Given the description of an element on the screen output the (x, y) to click on. 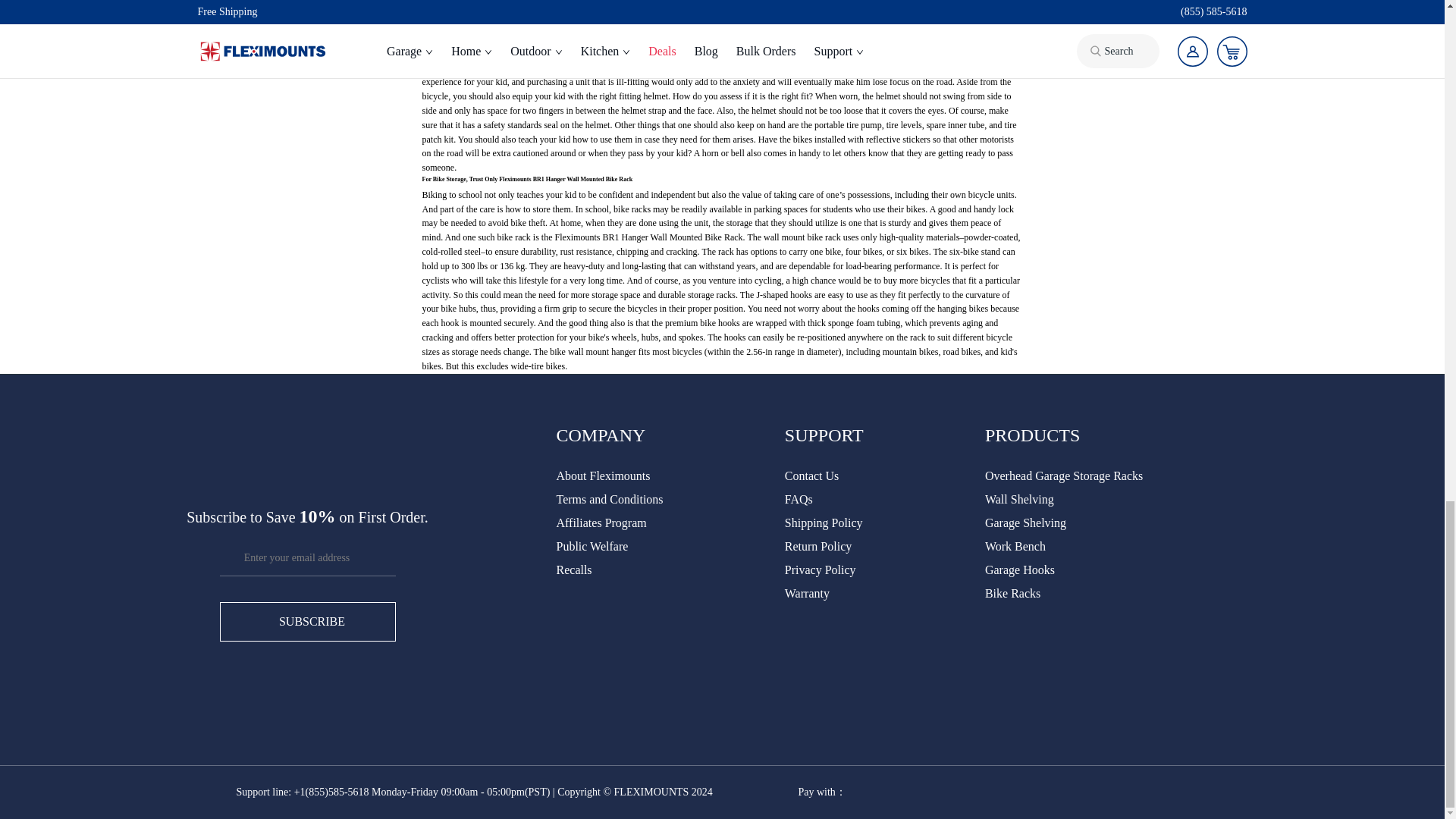
Terms and Conditions (609, 499)
Recalls (574, 569)
Affiliates Program (601, 522)
Public Welfare (592, 545)
Shipping Policy (823, 522)
Privacy Policy (820, 569)
Overhead Garage Storage Racks (1063, 475)
Return Policy (817, 545)
SUBSCRIBE (307, 620)
Wall Shelving (1019, 499)
Fleximounts BR1 Hanger Wall Mounted Bike Rack (565, 179)
About Fleximounts (603, 475)
FAQs (798, 499)
Contact Us (812, 475)
Warranty (806, 593)
